Given the description of an element on the screen output the (x, y) to click on. 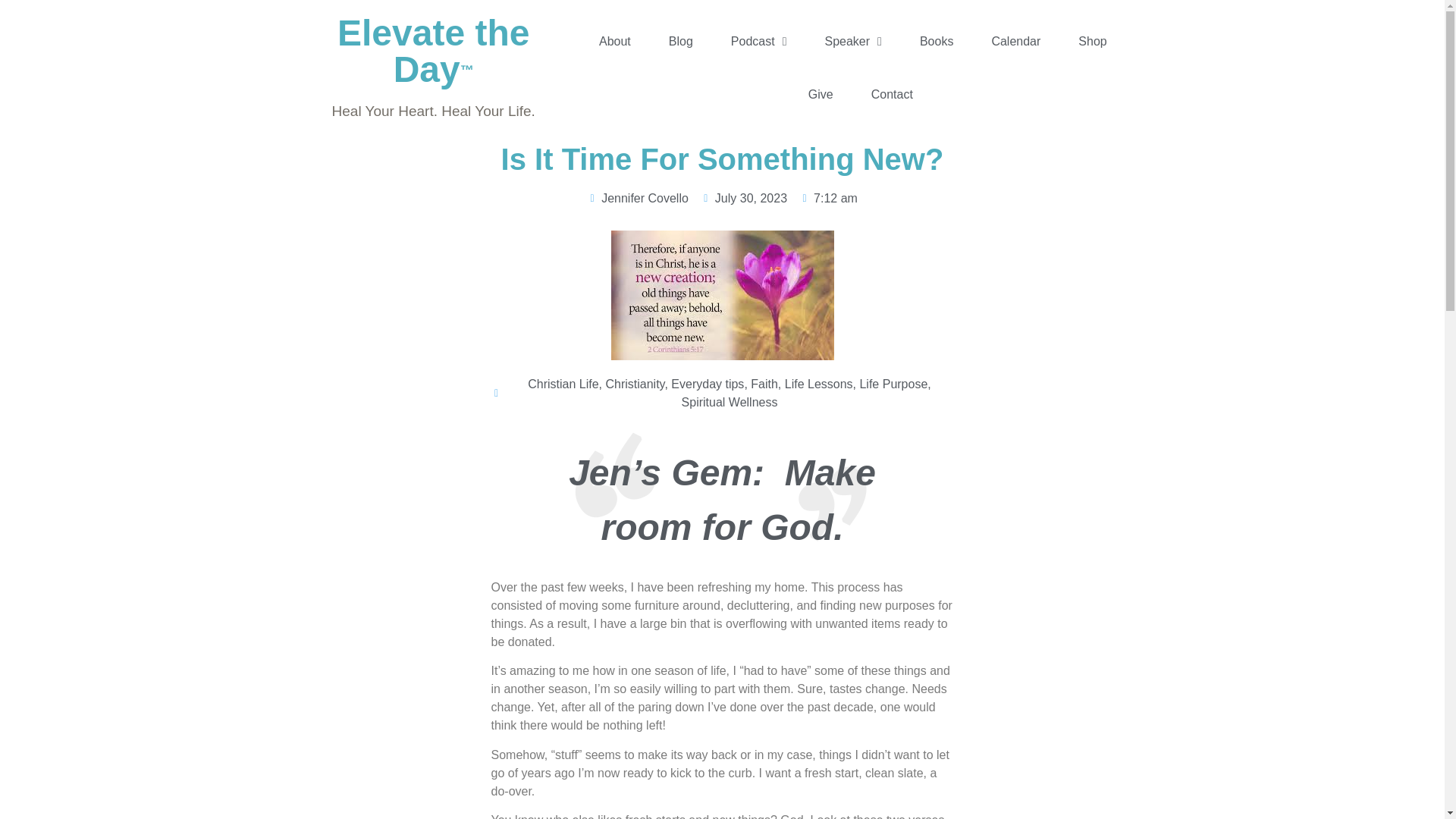
July 30, 2023 (743, 198)
Give (820, 94)
Books (935, 41)
Life Lessons (818, 383)
Calendar (1015, 41)
Faith (764, 383)
Podcast (758, 41)
Shop (1092, 41)
Speaker (852, 41)
Jennifer Covello (637, 198)
About (615, 41)
Contact (892, 94)
Spiritual Wellness (729, 401)
Life Purpose (893, 383)
Everyday tips (707, 383)
